Given the description of an element on the screen output the (x, y) to click on. 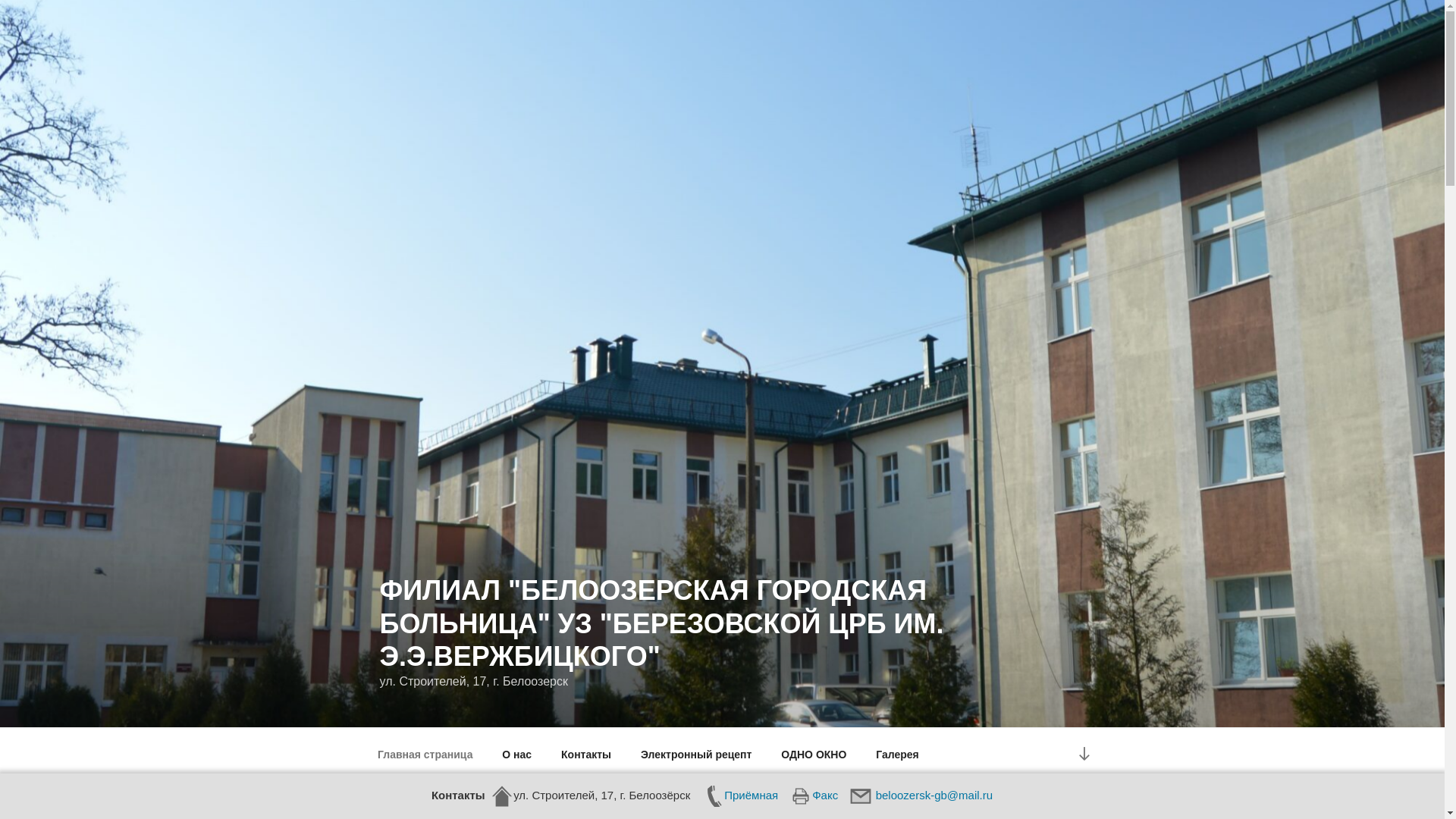
beloozersk-gb@mail.ru Element type: text (922, 794)
